Given the description of an element on the screen output the (x, y) to click on. 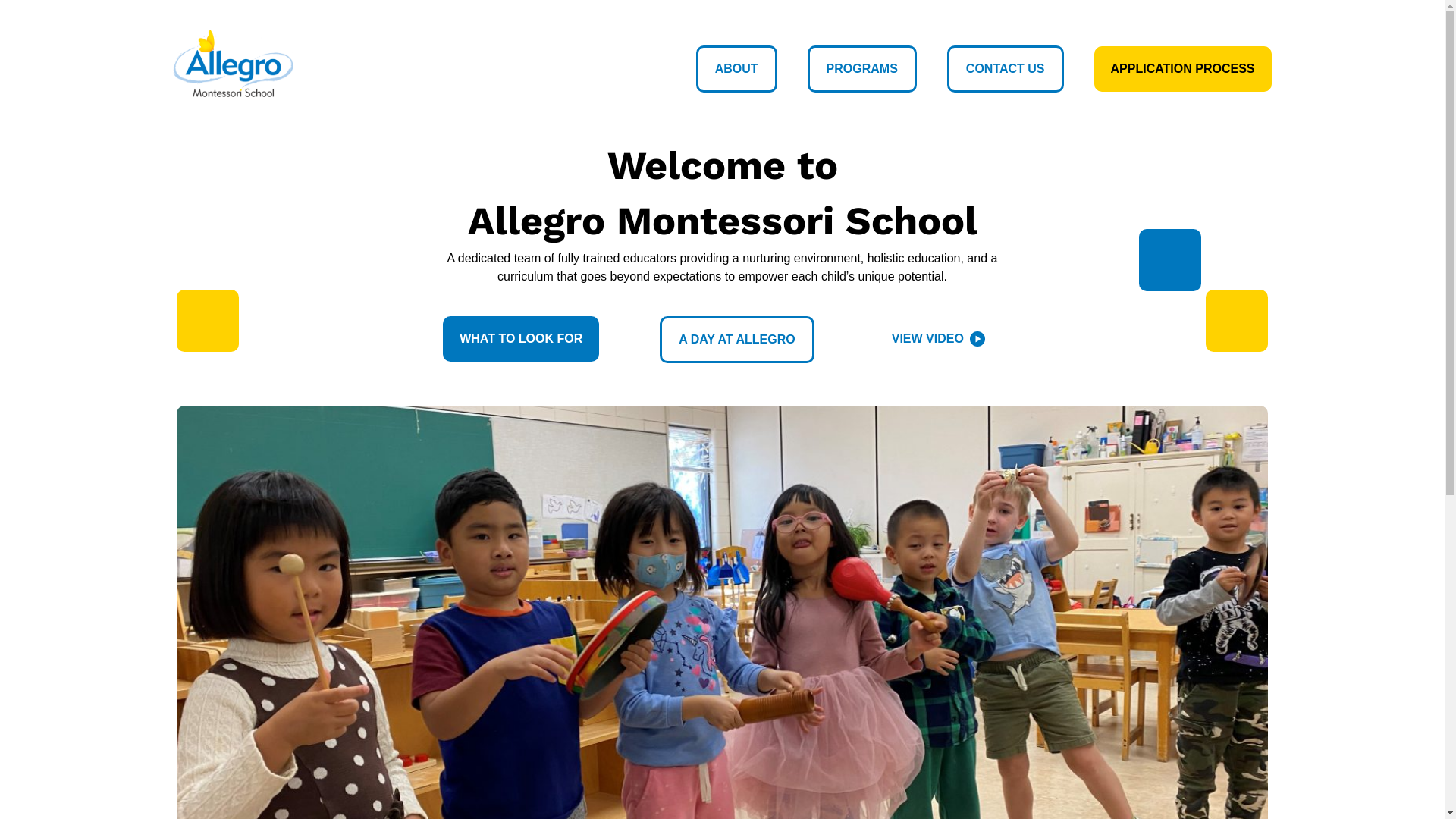
WHAT TO LOOK FOR Element type: text (520, 338)
ABOUT Element type: text (736, 68)
VIEW VIDEO Element type: text (938, 338)
CONTACT US Element type: text (1005, 68)
A DAY AT ALLEGRO Element type: text (736, 339)
APPLICATION PROCESS Element type: text (1182, 68)
PROGRAMS Element type: text (861, 68)
